Given the description of an element on the screen output the (x, y) to click on. 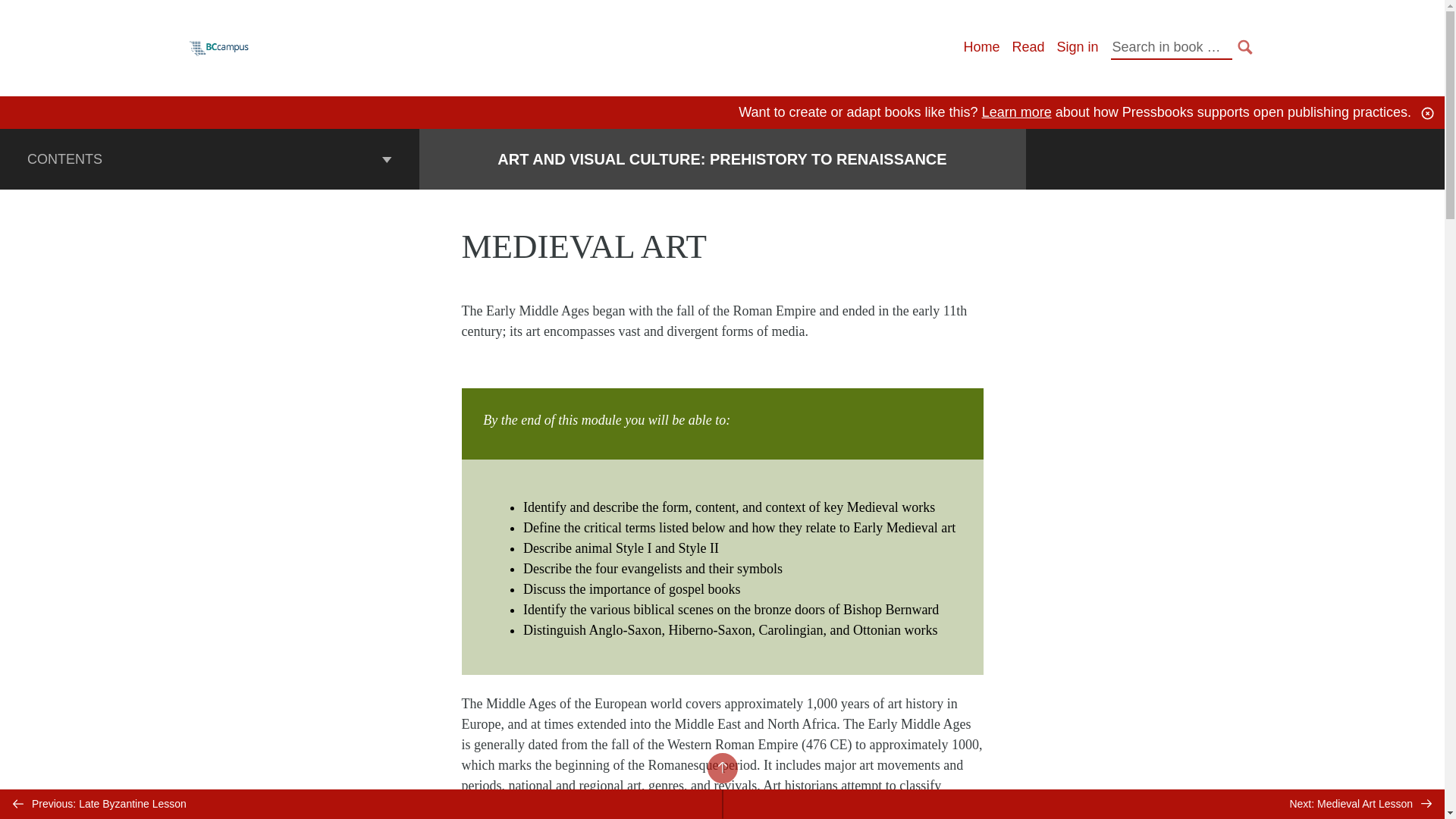
Previous: Late Byzantine Lesson (361, 804)
Learn more (1016, 111)
Previous: Late Byzantine Lesson (361, 804)
Home (980, 46)
BACK TO TOP (721, 767)
Sign in (1077, 46)
Read (1027, 46)
CONTENTS (209, 158)
ART AND VISUAL CULTURE: PREHISTORY TO RENAISSANCE (721, 159)
